Given the description of an element on the screen output the (x, y) to click on. 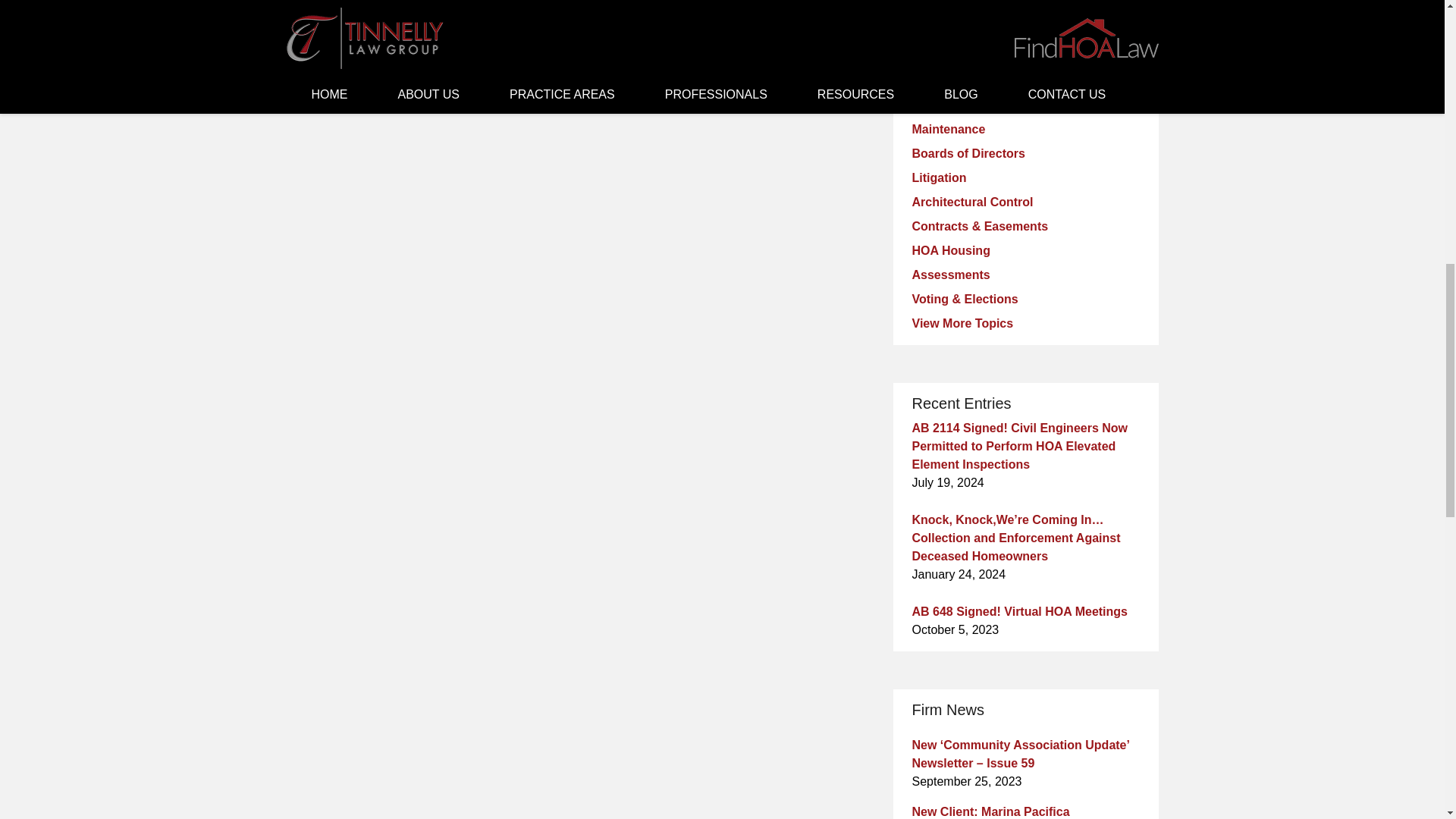
Firm News (941, 31)
Enforcement (948, 80)
Assessments (950, 274)
Maintenance (948, 128)
Architectural Control (971, 201)
HOA Housing (950, 250)
HOA Governance (961, 56)
How to Manage Increased Costs During COVID-19 (443, 39)
New Client:  Manana Homeowners Association (322, 39)
Home (388, 39)
